Given the description of an element on the screen output the (x, y) to click on. 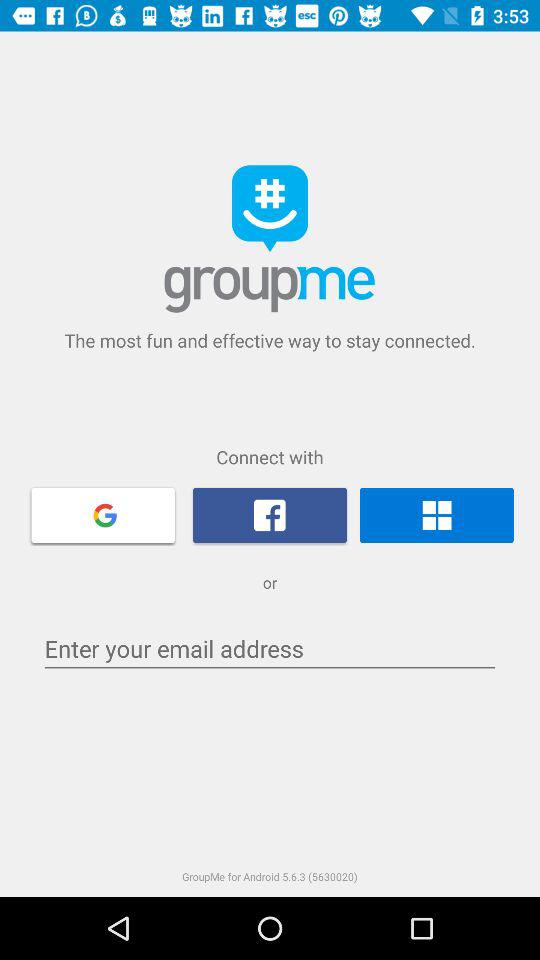
select icon on the right (436, 515)
